Given the description of an element on the screen output the (x, y) to click on. 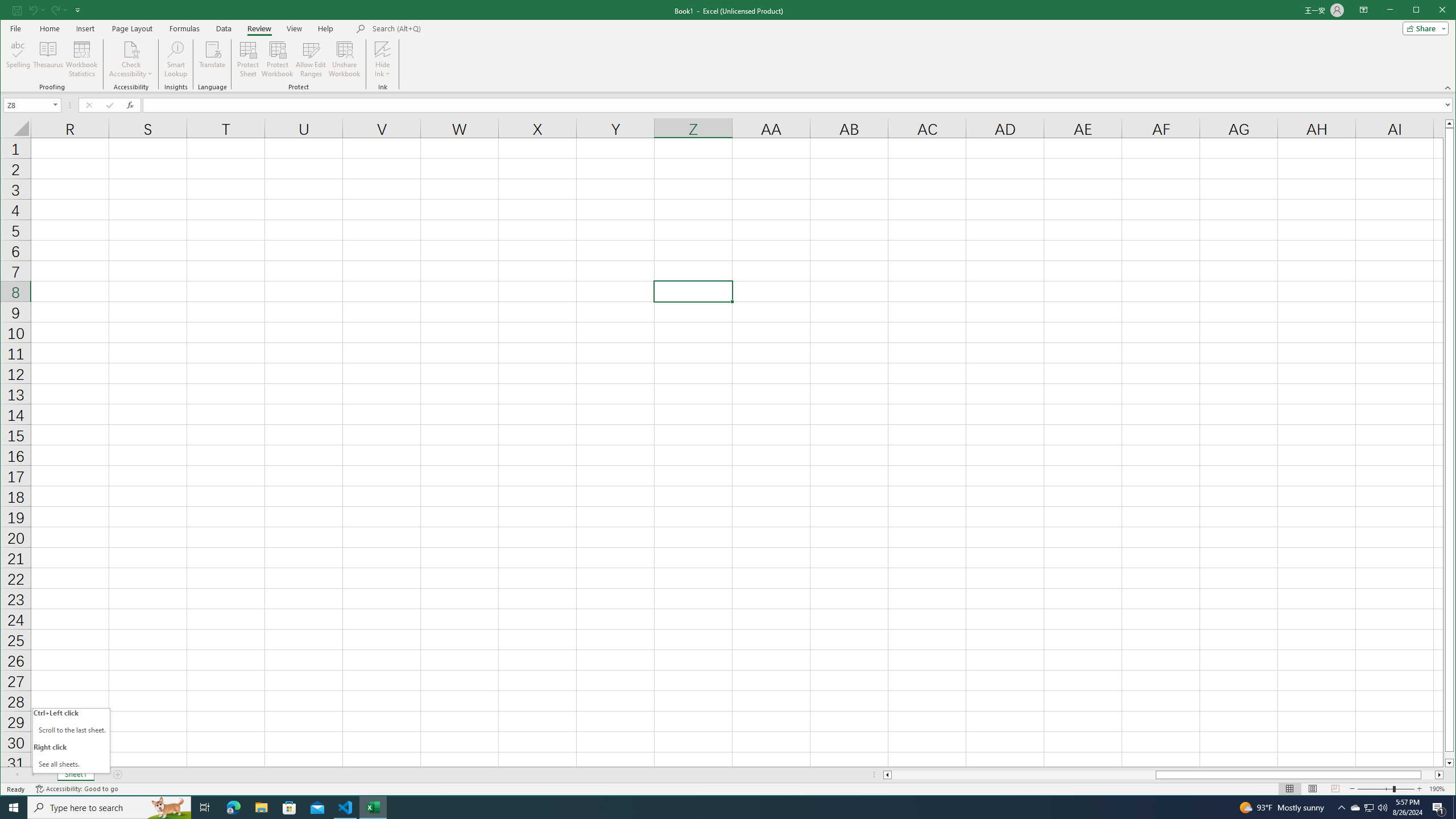
Visual Studio Code - 1 running window (345, 807)
Page left (1023, 774)
Allow Edit Ranges (310, 59)
Unshare Workbook (344, 59)
Microsoft search (451, 28)
